Given the description of an element on the screen output the (x, y) to click on. 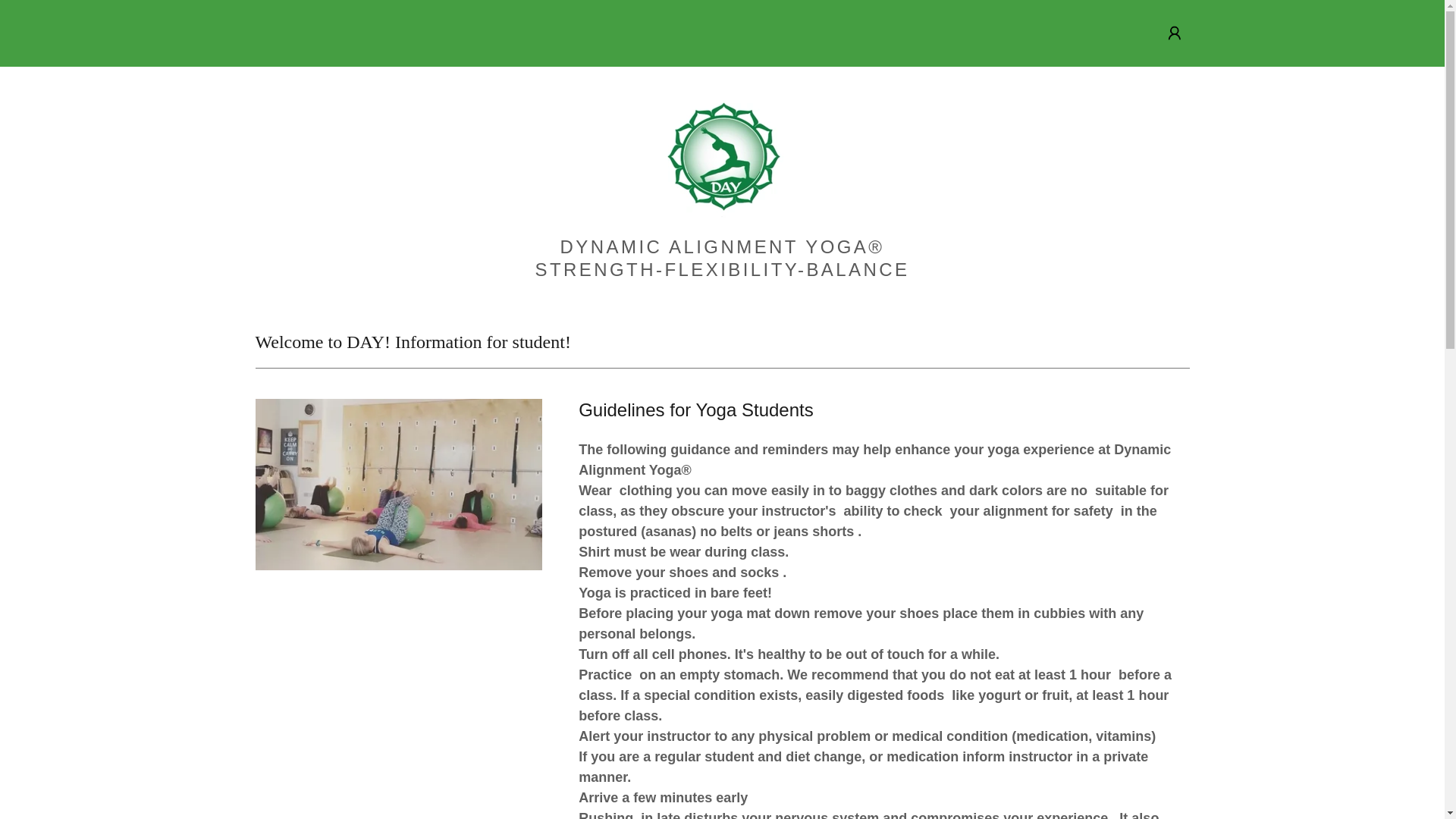
Dynamic Alignment Yoga  (721, 155)
